Given the description of an element on the screen output the (x, y) to click on. 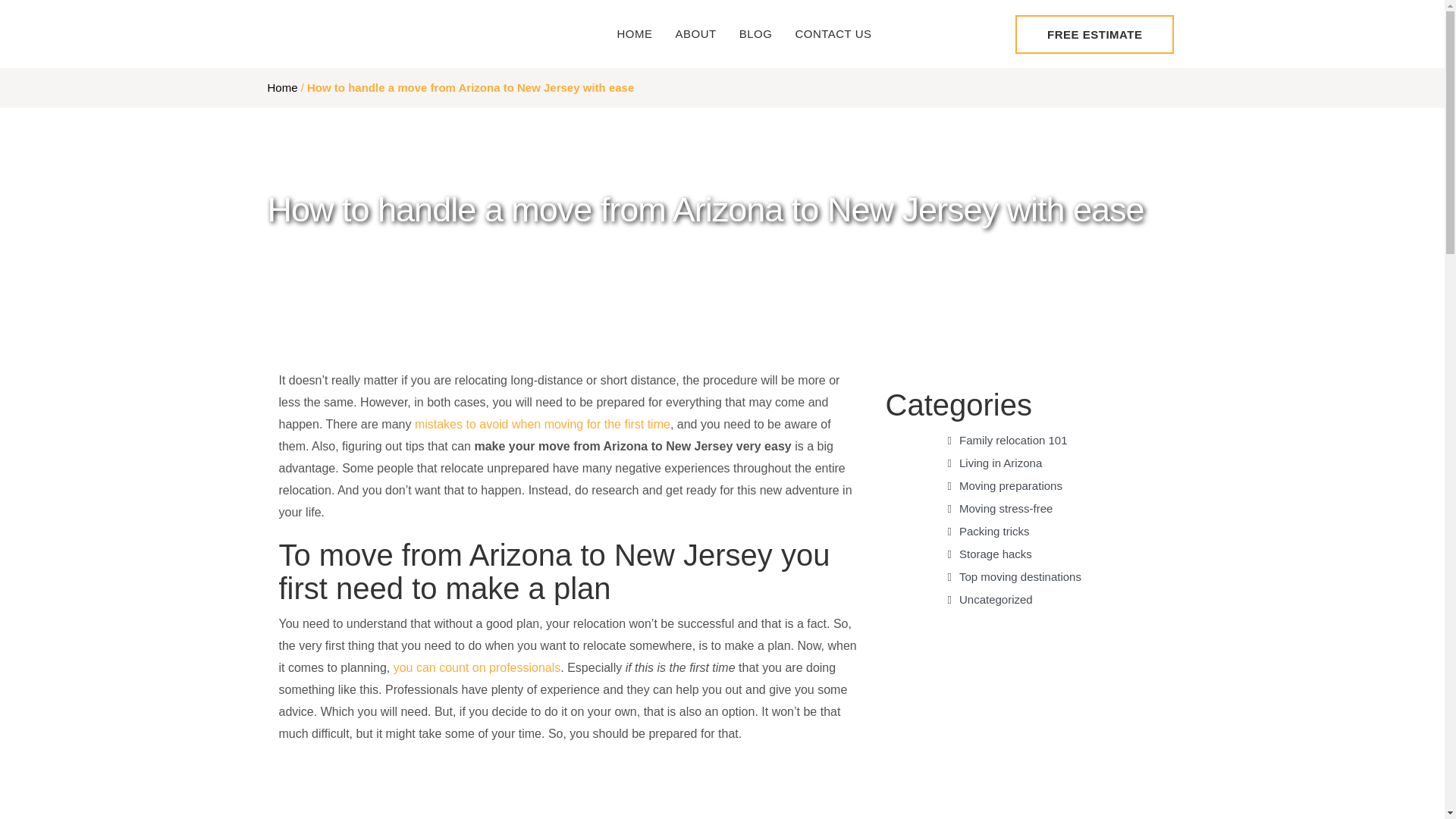
Living in Arizona (994, 462)
Home (281, 87)
you can count on professionals (476, 667)
Top moving destinations (1014, 576)
Moving stress-free (999, 508)
Family relocation 101 (1007, 440)
Home (634, 34)
FREE ESTIMATE (1093, 34)
Uncategorized (989, 599)
Packing tricks (988, 530)
Blog (756, 34)
mistakes to avoid when moving for the first time (541, 423)
Contact us (832, 34)
About (695, 34)
Moving preparations (1004, 485)
